Given the description of an element on the screen output the (x, y) to click on. 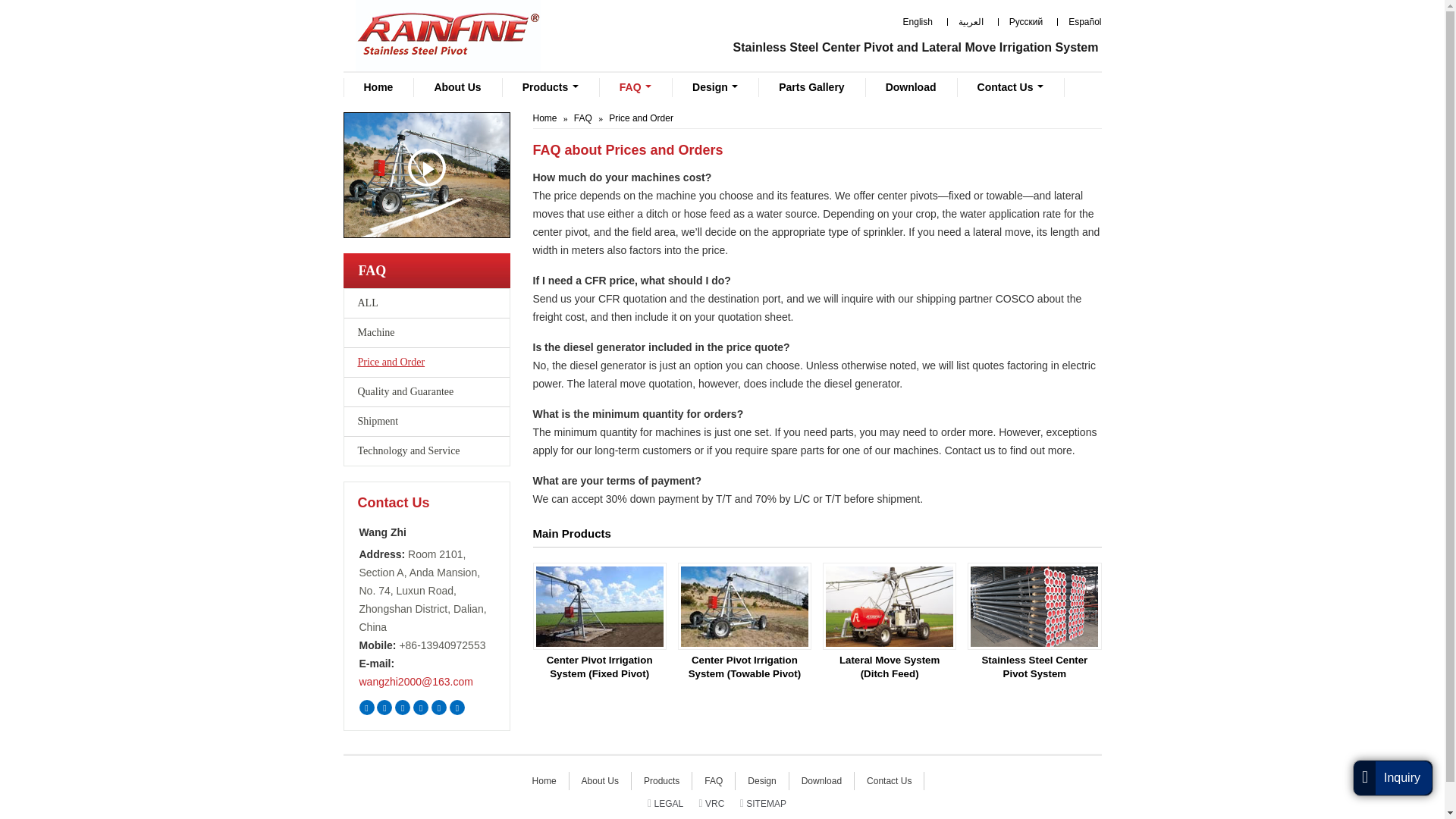
ETW Cloud System (456, 706)
Gmail (420, 706)
Facebook (384, 706)
English (912, 21)
Parts Gallery (811, 87)
Home (544, 118)
Products (550, 87)
Linkedin (402, 706)
Home (377, 87)
Print This Page (438, 706)
FAQ (634, 87)
Design (714, 87)
FAQ (582, 118)
Download (910, 87)
